Given the description of an element on the screen output the (x, y) to click on. 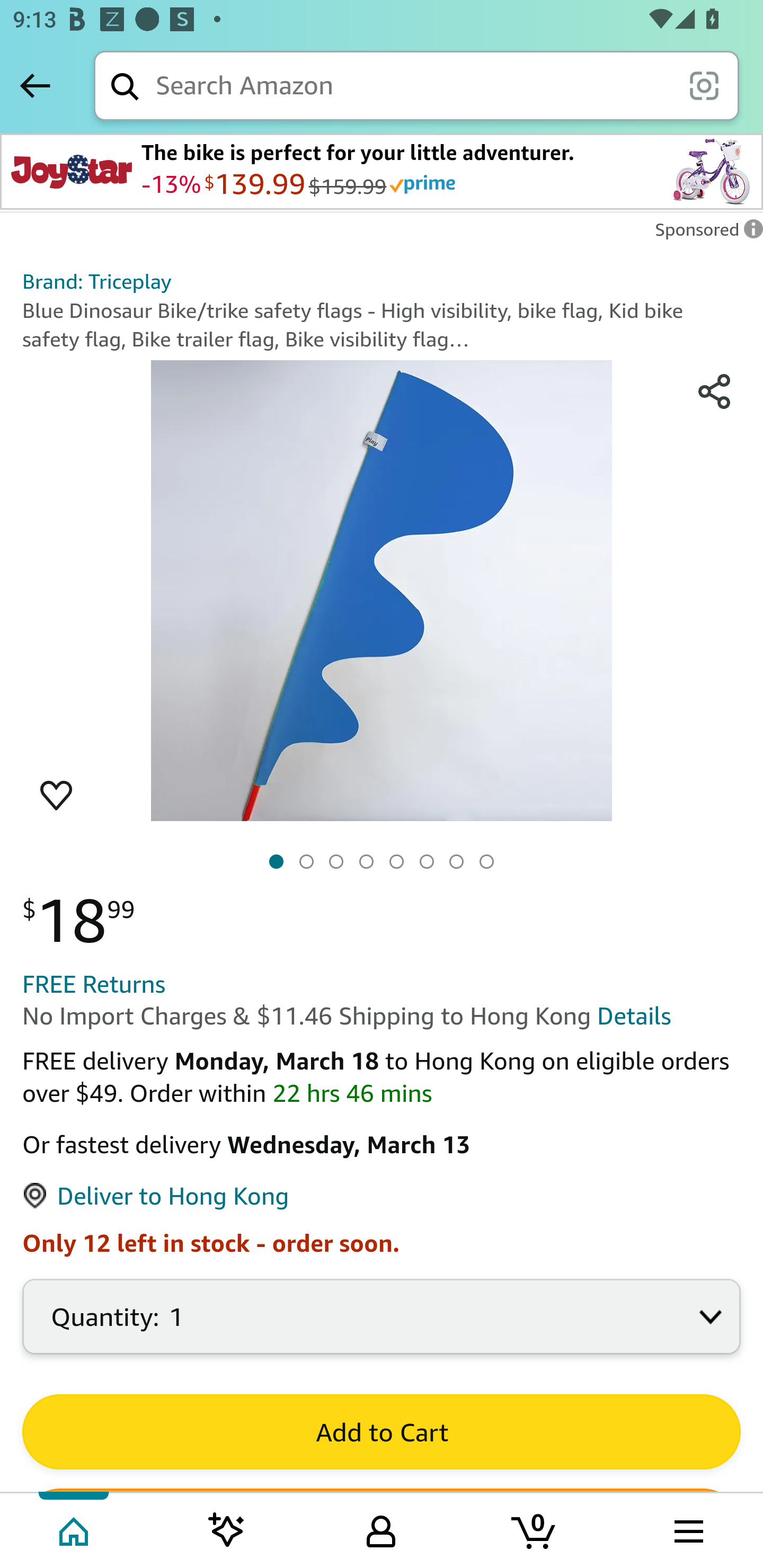
Back (35, 85)
scan it (704, 85)
Leave feedback on Sponsored ad Sponsored  (703, 234)
Brand: Triceplay (96, 281)
Heart to save an item to your default list (56, 794)
FREE Returns (94, 984)
Details (633, 1016)
Deliver to Hong Kong (155, 1196)
1 (381, 1326)
Add to Cart (381, 1431)
Home Tab 1 of 5 (75, 1529)
Inspire feed Tab 2 of 5 (227, 1529)
Your Amazon.com Tab 3 of 5 (380, 1529)
Cart 0 item Tab 4 of 5 0 (534, 1529)
Browse menu Tab 5 of 5 (687, 1529)
